Given the description of an element on the screen output the (x, y) to click on. 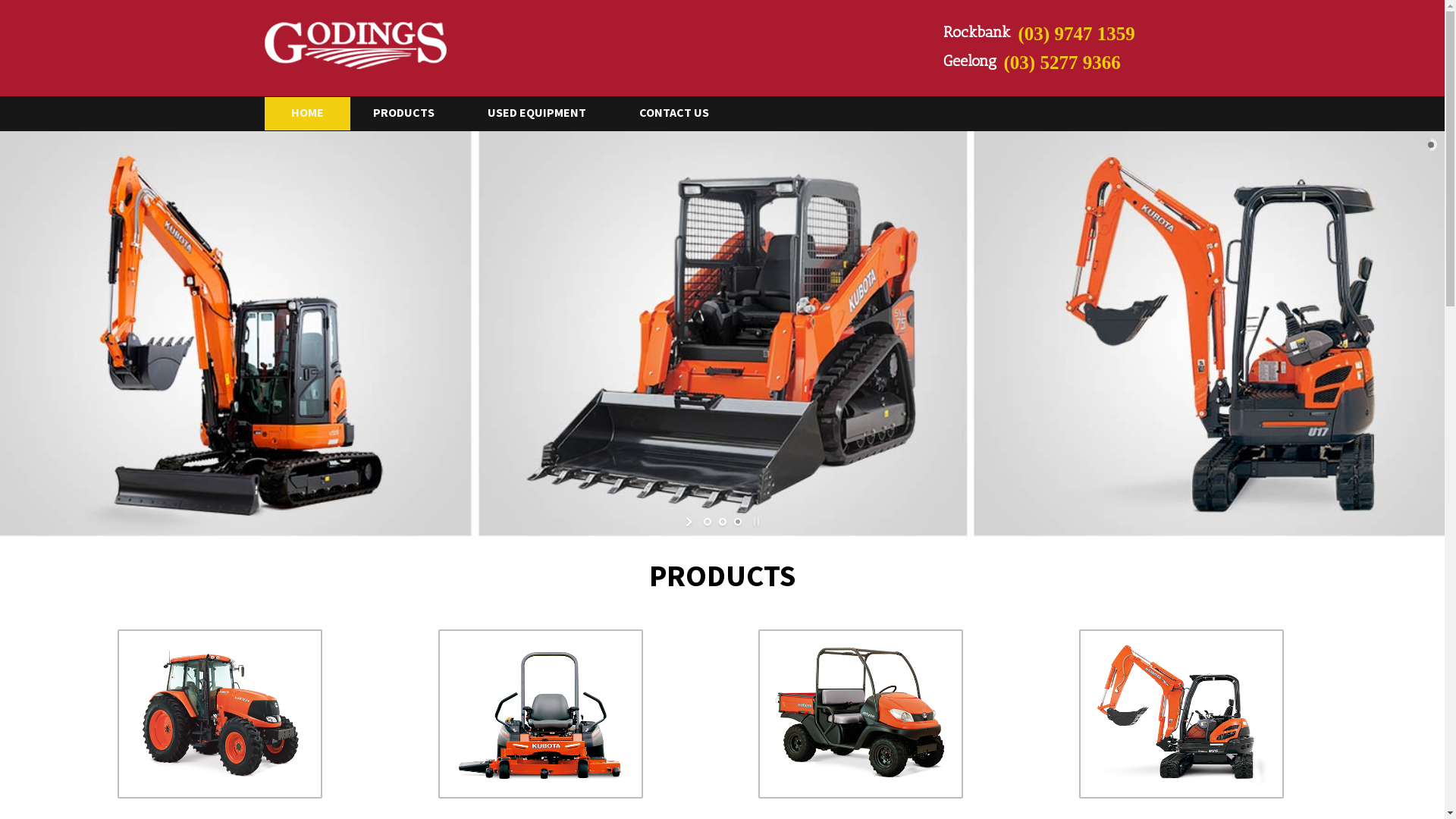
PRODUCTS Element type: text (418, 112)
(03) 5277 9366 Element type: text (1098, 62)
CONTACT US Element type: text (688, 112)
(03) 9747 1359 Element type: text (1112, 33)
HOME Element type: text (306, 113)
USED EQUIPMENT Element type: text (550, 112)
